Given the description of an element on the screen output the (x, y) to click on. 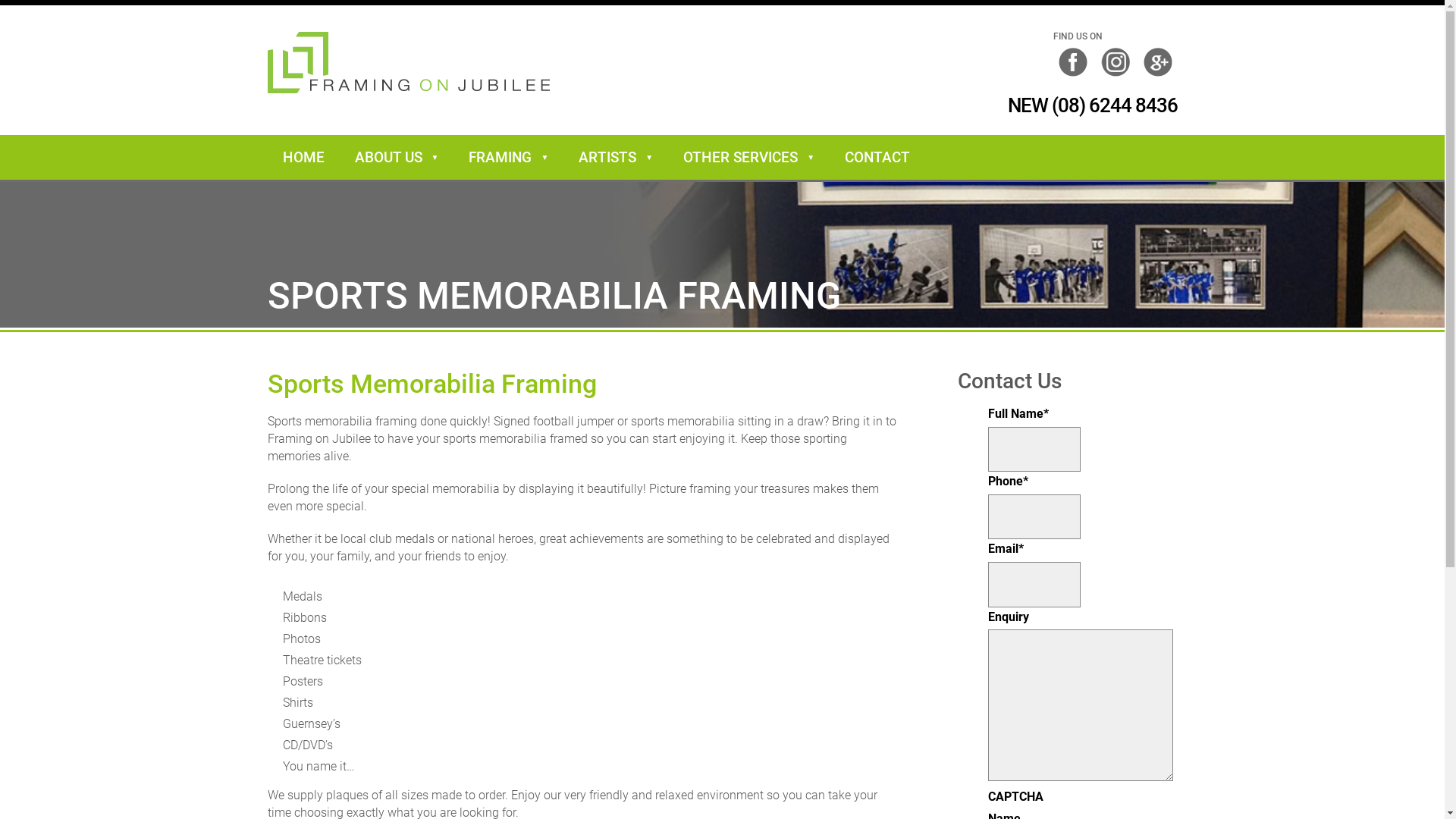
FRAMING Element type: text (508, 156)
CONTACT Element type: text (877, 156)
NEW (08) 6244 8436 Element type: text (1075, 105)
ARTISTS Element type: text (615, 156)
ABOUT US Element type: text (396, 156)
OTHER SERVICES Element type: text (748, 156)
HOME Element type: text (302, 156)
